Given the description of an element on the screen output the (x, y) to click on. 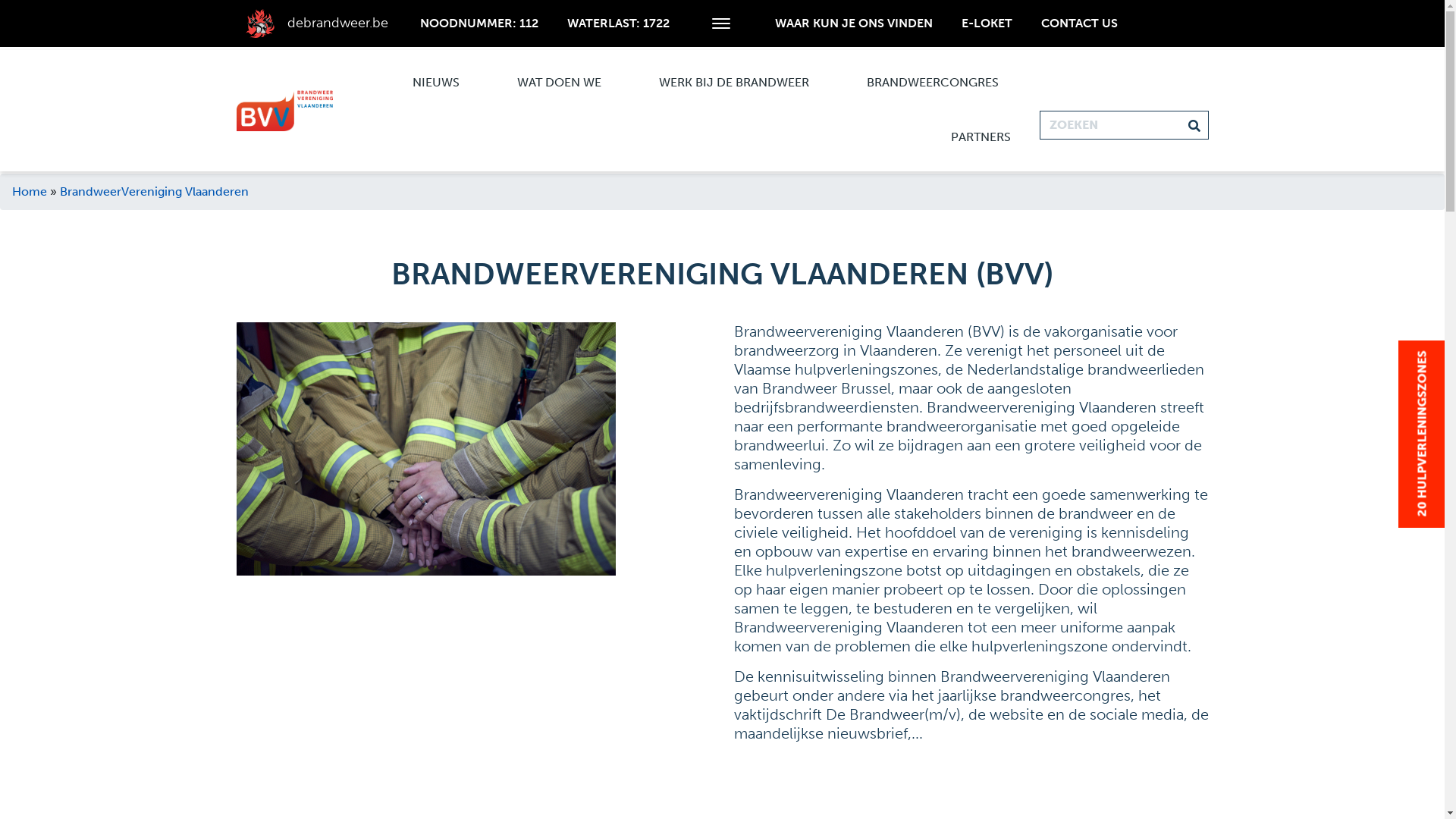
debrandweer.be Element type: text (314, 22)
Skip to main content Element type: text (0, 0)
WERK BIJ DE BRANDWEER Element type: text (733, 81)
WAAR KUN JE ONS VINDEN Element type: text (853, 22)
Home Element type: text (29, 191)
NIEUWS Element type: text (435, 81)
CONTACT US Element type: text (1078, 22)
NOODNUMMER: 112 Element type: text (479, 22)
Menu Element type: text (720, 27)
BrandweerVereniging Vlaanderen Element type: text (153, 191)
PARTNERS Element type: text (980, 136)
BRANDWEERCONGRES Element type: text (932, 81)
E-LOKET Element type: text (986, 22)
WATERLAST: 1722 Element type: text (618, 22)
WAT DOEN WE Element type: text (559, 81)
